Given the description of an element on the screen output the (x, y) to click on. 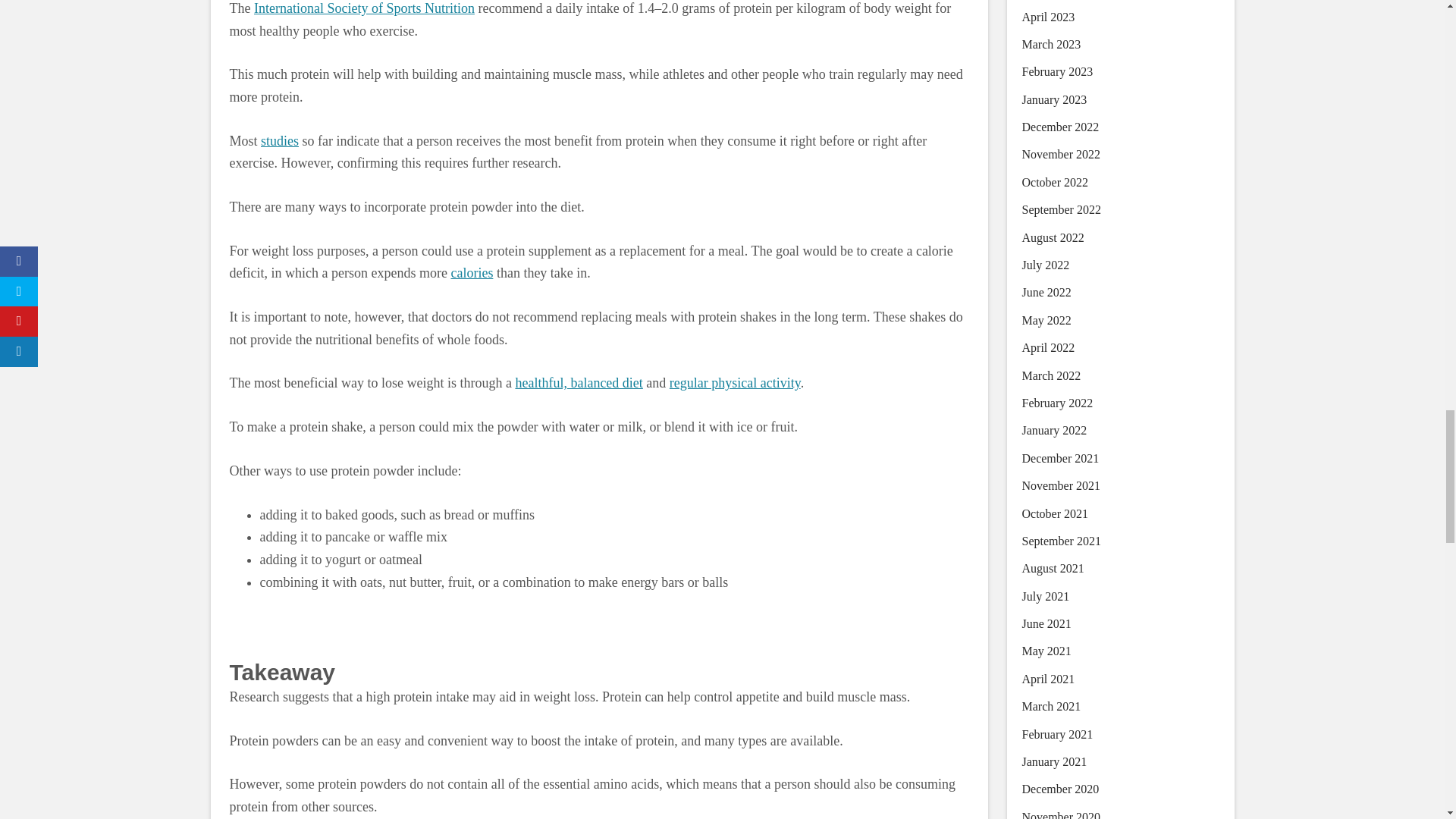
How many calories should I eat a day? (471, 272)
